Given the description of an element on the screen output the (x, y) to click on. 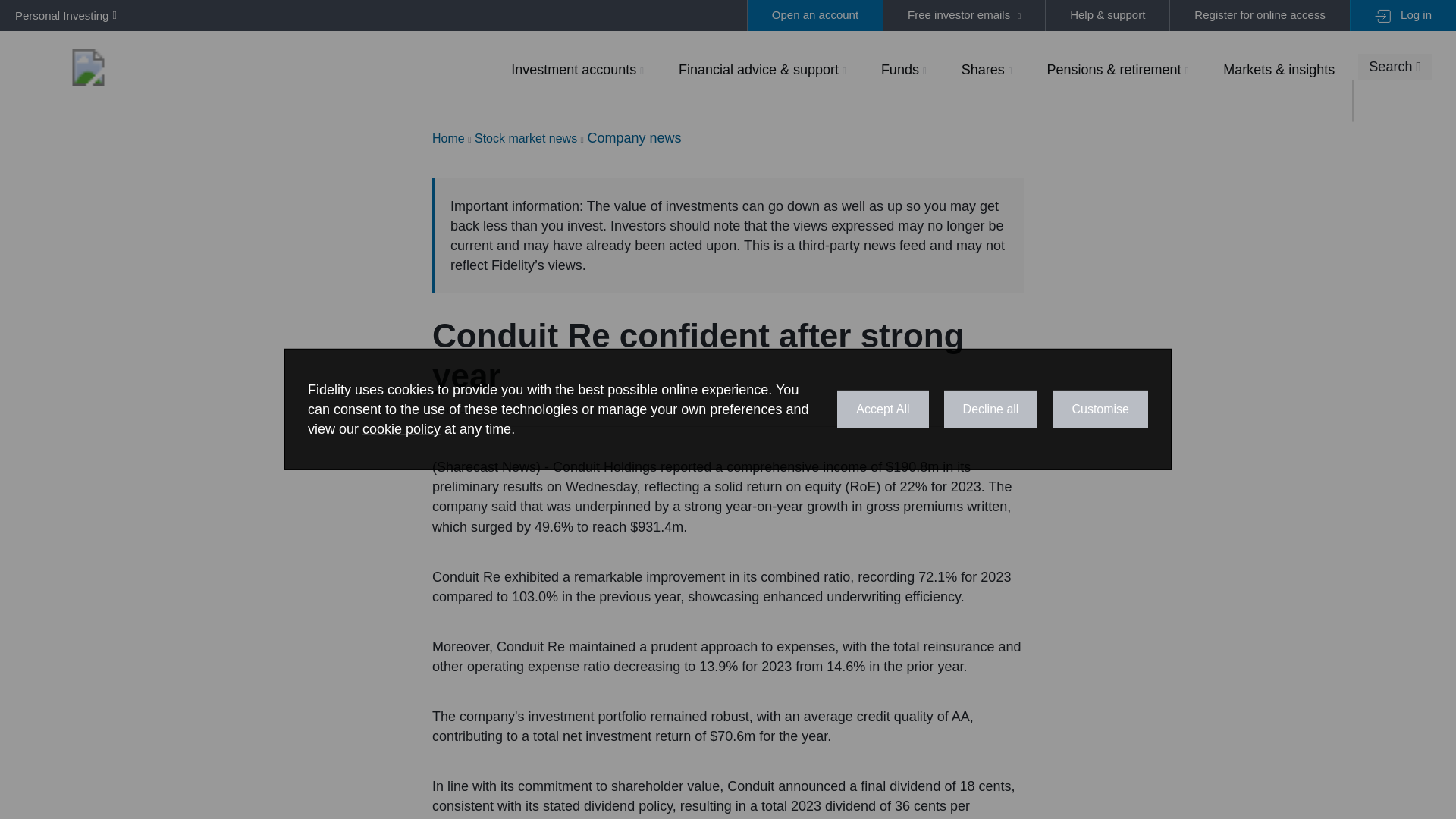
Free investor emails (963, 15)
Fidelity International Logo (88, 67)
Open an account (814, 15)
Fidelity International Logo (88, 67)
Personal Investing (61, 15)
Investment accounts (576, 69)
Register for online access (1259, 15)
